Given the description of an element on the screen output the (x, y) to click on. 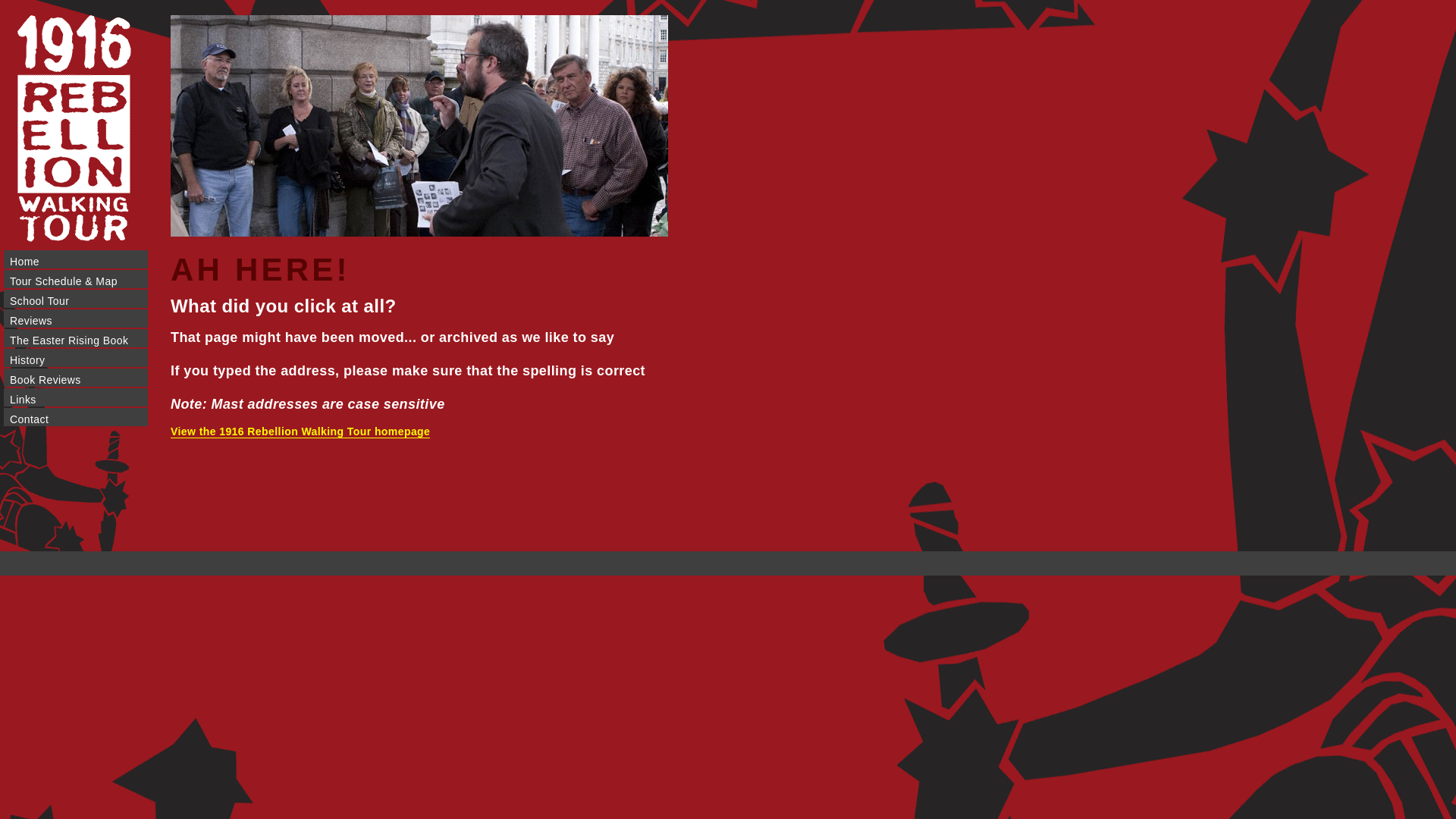
History Element type: text (75, 357)
Tour Schedule & Map Element type: text (75, 278)
Contact Element type: text (75, 416)
View the 1916 Rebellion Walking Tour homepage Element type: text (299, 431)
The Easter Rising Book Element type: text (75, 338)
School Tour Element type: text (75, 298)
Home Element type: text (75, 259)
Links Element type: text (75, 397)
Book Reviews Element type: text (75, 377)
Reviews Element type: text (75, 318)
